Given the description of an element on the screen output the (x, y) to click on. 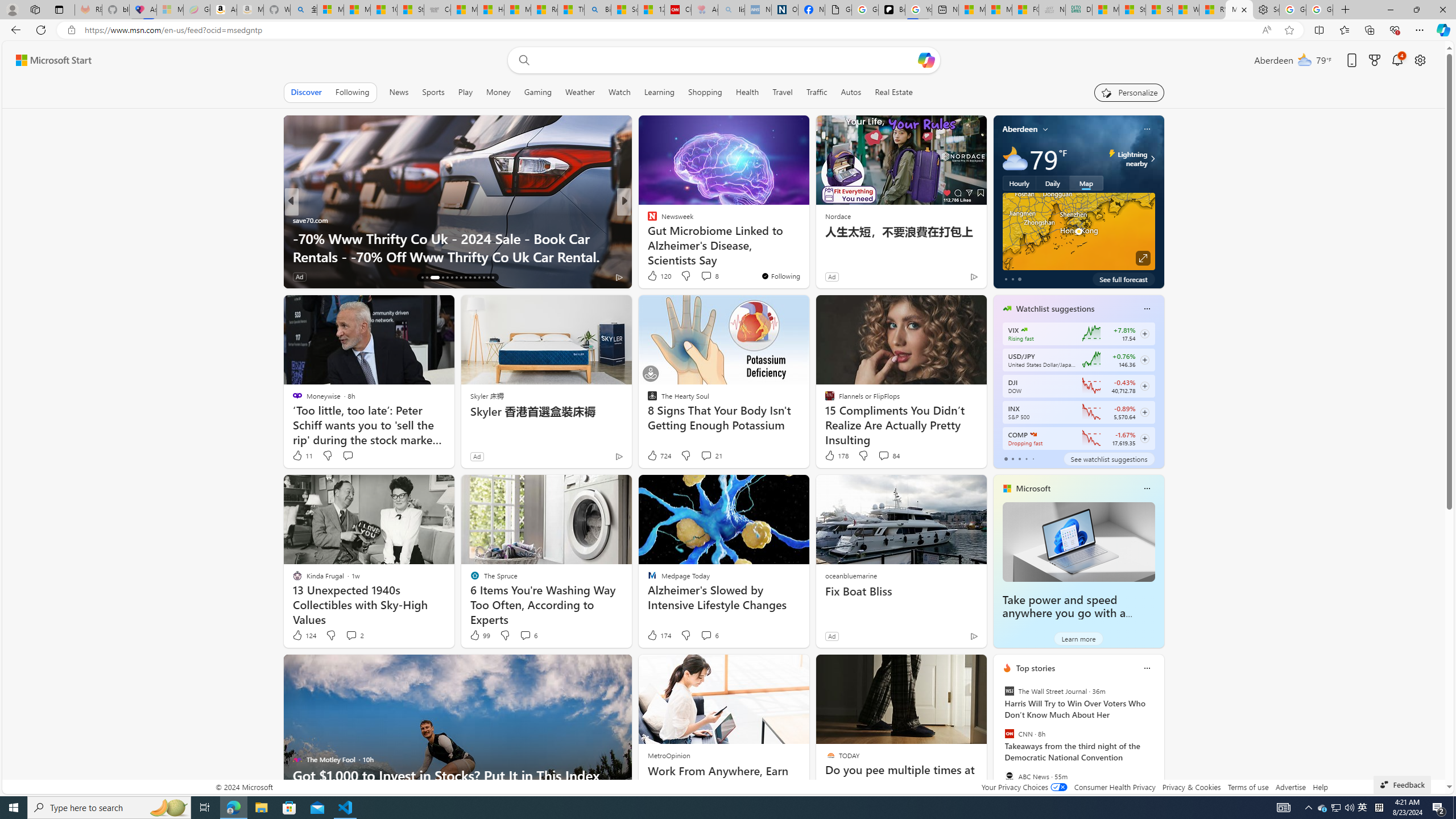
566 Like (304, 276)
Learning (658, 92)
354 Like (654, 276)
previous (998, 741)
Hourly (1018, 183)
tab-2 (1019, 458)
Autos (851, 92)
NASDAQ (1032, 434)
Inc. (647, 219)
Real Estate (893, 92)
